Given the description of an element on the screen output the (x, y) to click on. 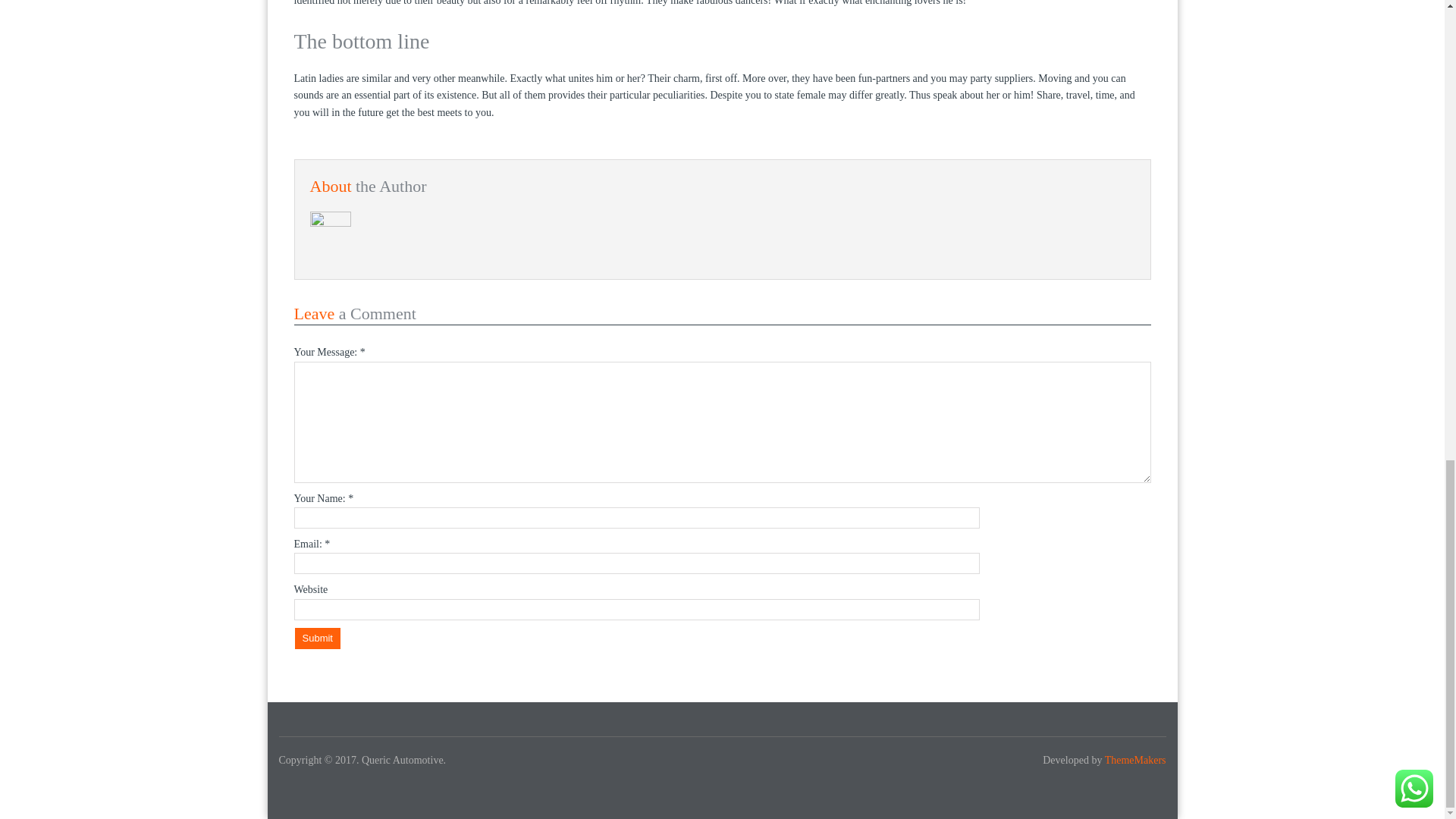
Submit (316, 638)
ThemeMakers (1135, 759)
Submit (316, 638)
